Given the description of an element on the screen output the (x, y) to click on. 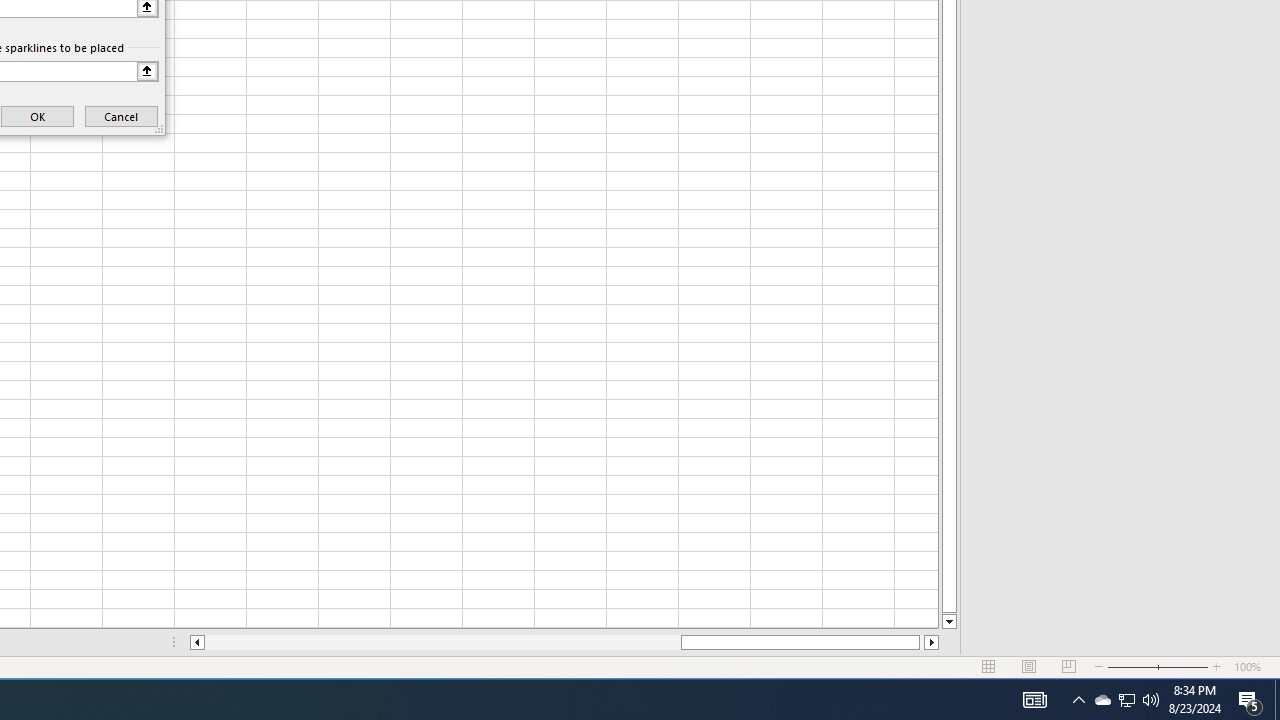
Line down (948, 622)
Page Layout (1028, 667)
Normal (988, 667)
Zoom (1158, 667)
Zoom In (1217, 667)
Column right (932, 642)
Page left (442, 642)
Class: NetUIScrollBar (564, 642)
Page Break Preview (1069, 667)
Zoom Out (1131, 667)
Column left (196, 642)
Page right (922, 642)
